Given the description of an element on the screen output the (x, y) to click on. 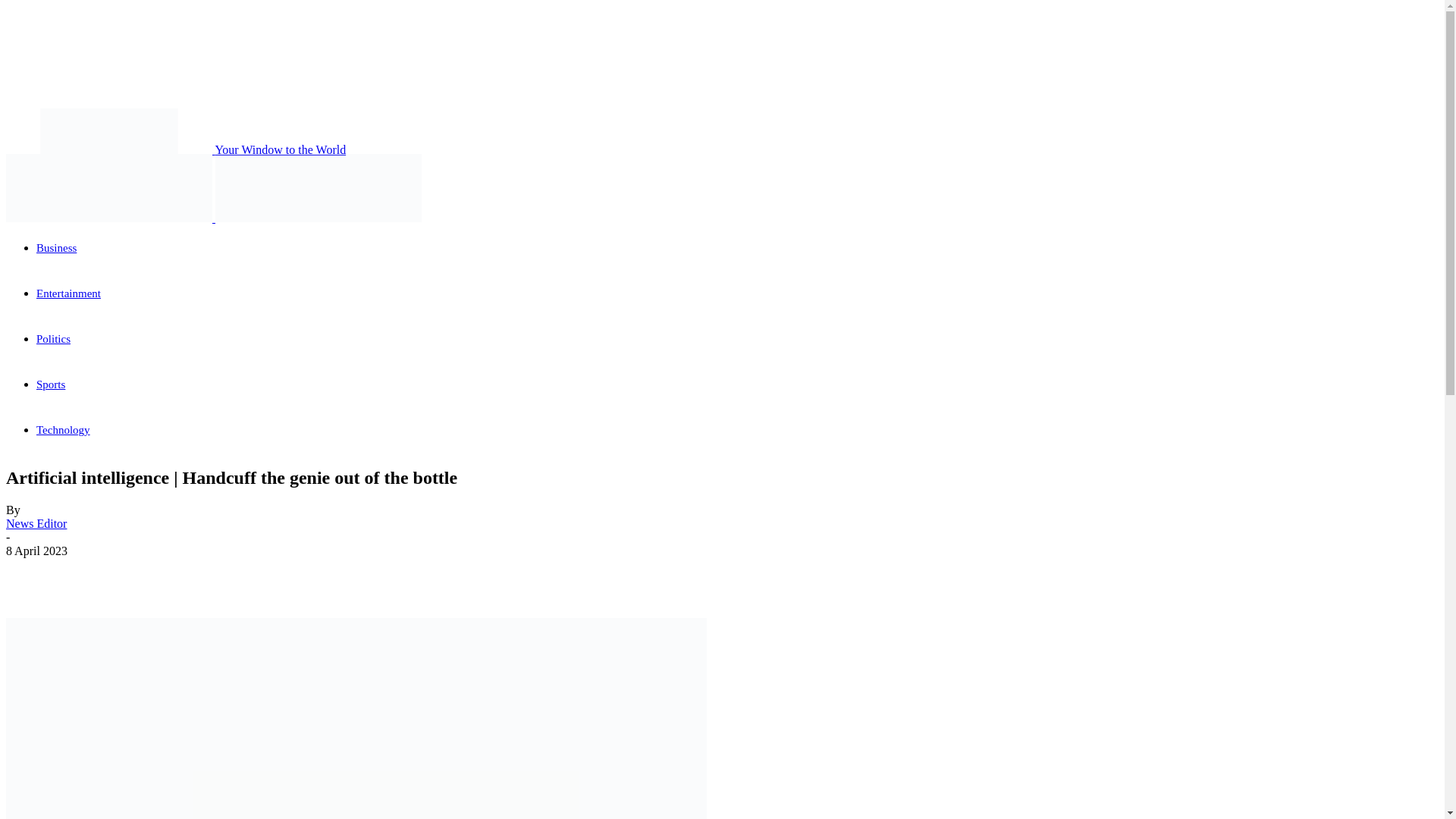
Entertainment (68, 293)
Sports (50, 384)
News Editor (35, 522)
Business (56, 247)
Politics (52, 338)
Your Window to the World (175, 149)
Technology (63, 429)
